Given the description of an element on the screen output the (x, y) to click on. 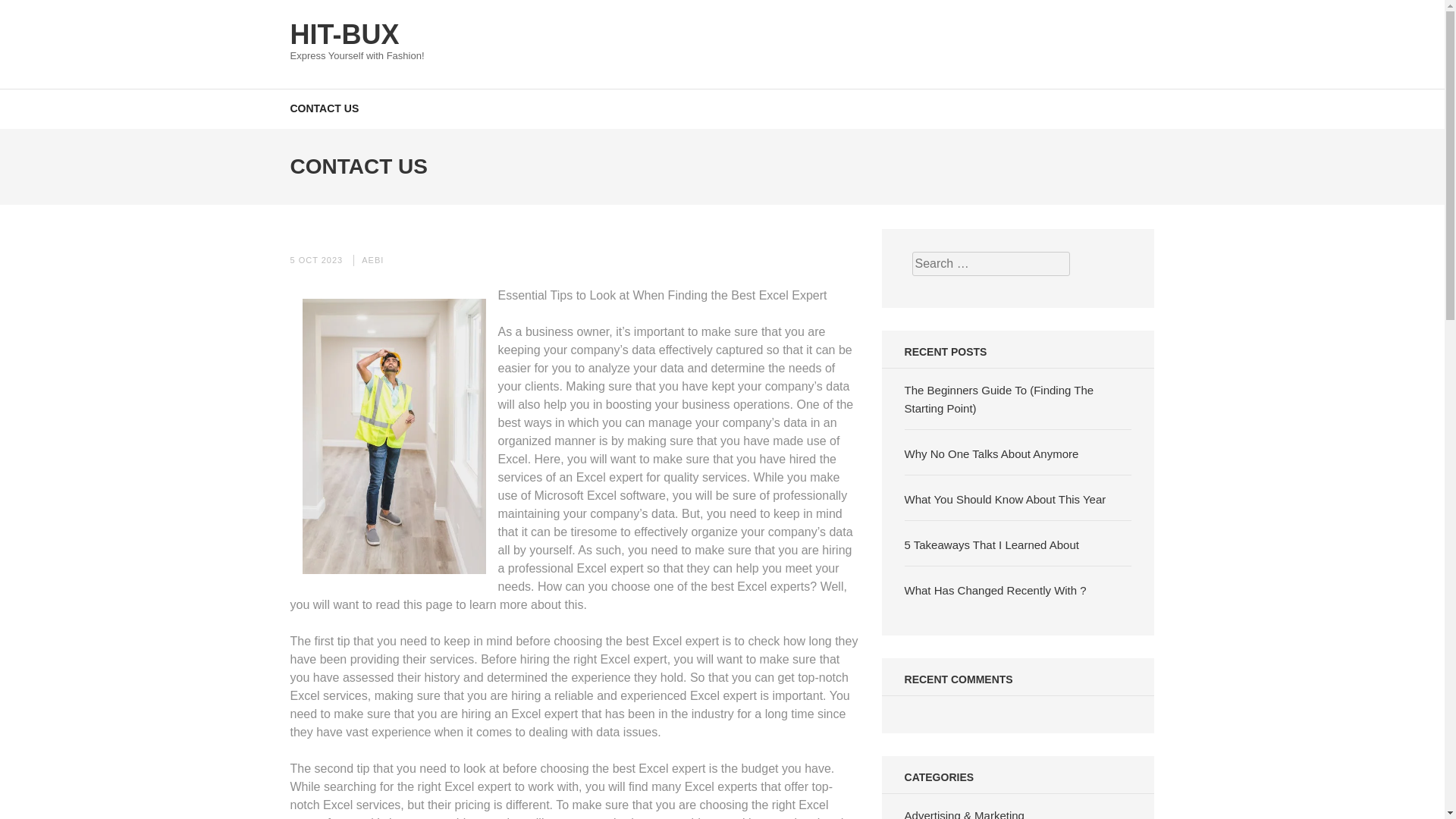
5 Takeaways That I Learned About (991, 544)
Search (1428, 19)
HIT-BUX (343, 33)
CONTACT US (323, 108)
AEBI (372, 258)
What Has Changed Recently With ? (995, 590)
5 OCT 2023 (315, 258)
Why No One Talks About Anymore (991, 453)
What You Should Know About This Year (1005, 499)
